Given the description of an element on the screen output the (x, y) to click on. 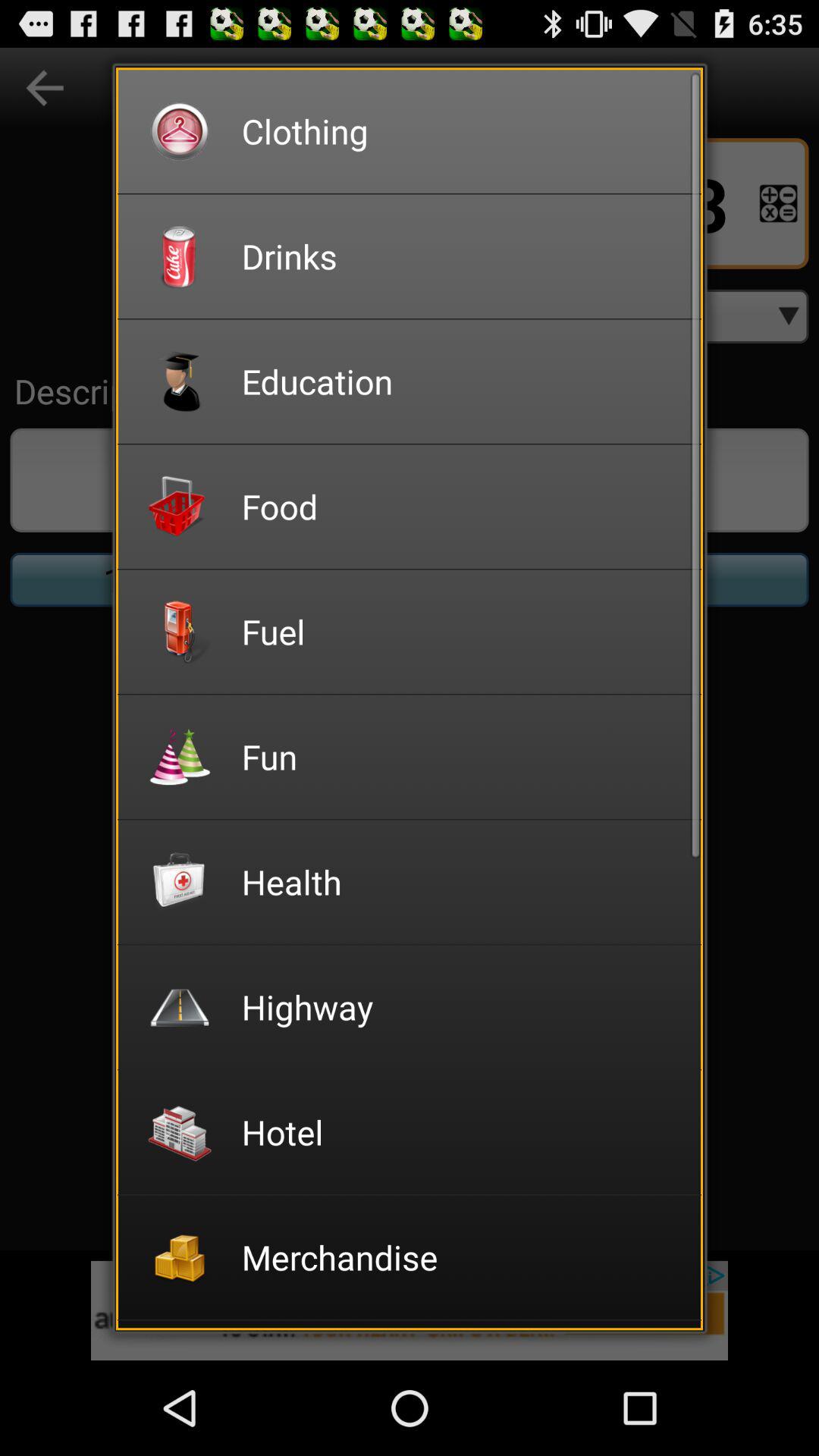
launch app above highway app (461, 881)
